Given the description of an element on the screen output the (x, y) to click on. 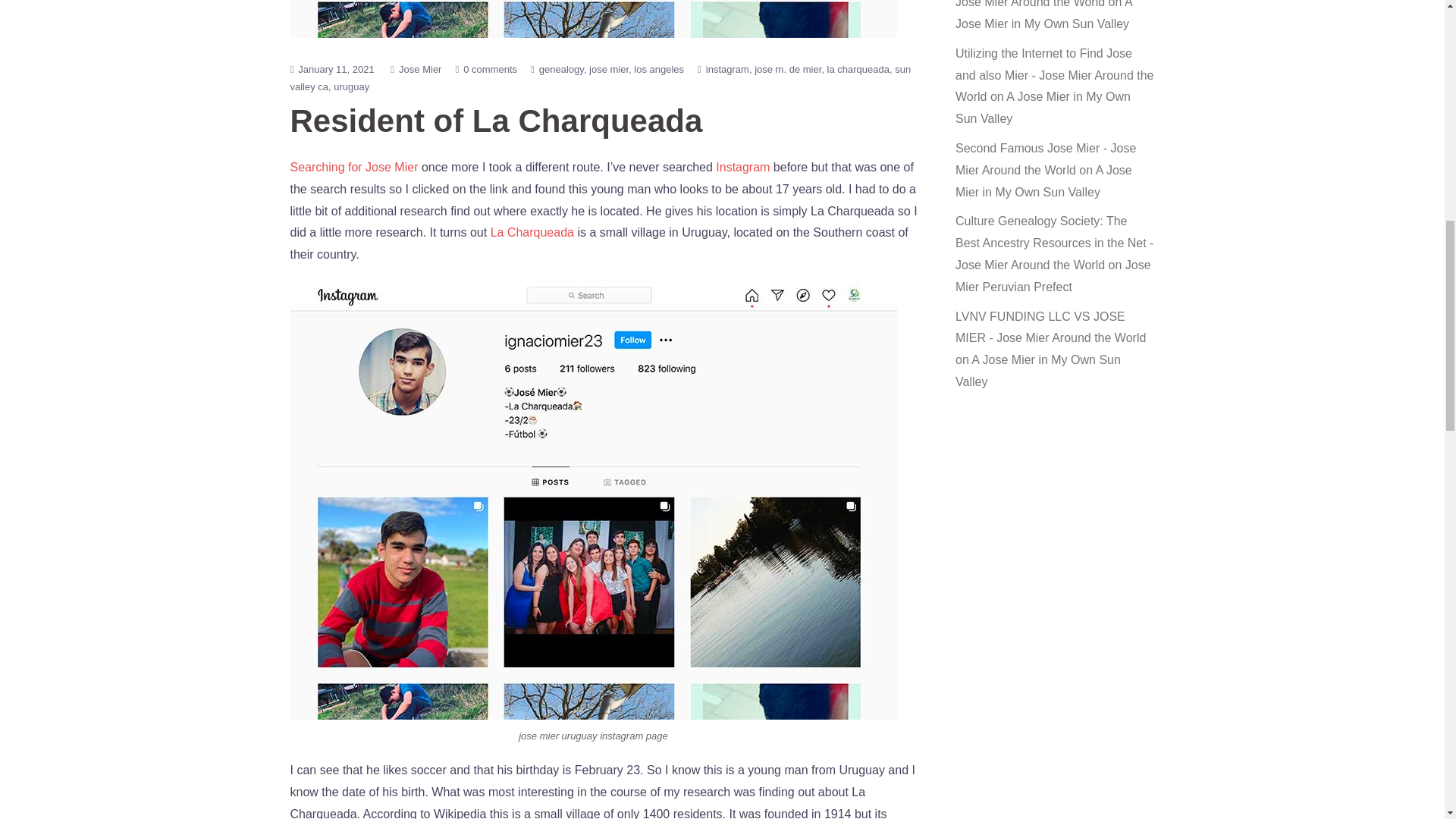
A Jose Mier in My Own Sun Valley (1043, 15)
Searching for Jose Mier (353, 166)
sun valley ca (600, 77)
jose mier (611, 69)
instagram (730, 69)
0 comments (489, 69)
uruguay (351, 86)
genealogy (563, 69)
Instagram (743, 166)
La Charqueada (531, 232)
la charqueada (861, 69)
los angeles (658, 69)
A Jose Mier in My Own Sun Valley (1043, 107)
Second Famous Jose Mier - Jose Mier Around the World (1045, 158)
